Given the description of an element on the screen output the (x, y) to click on. 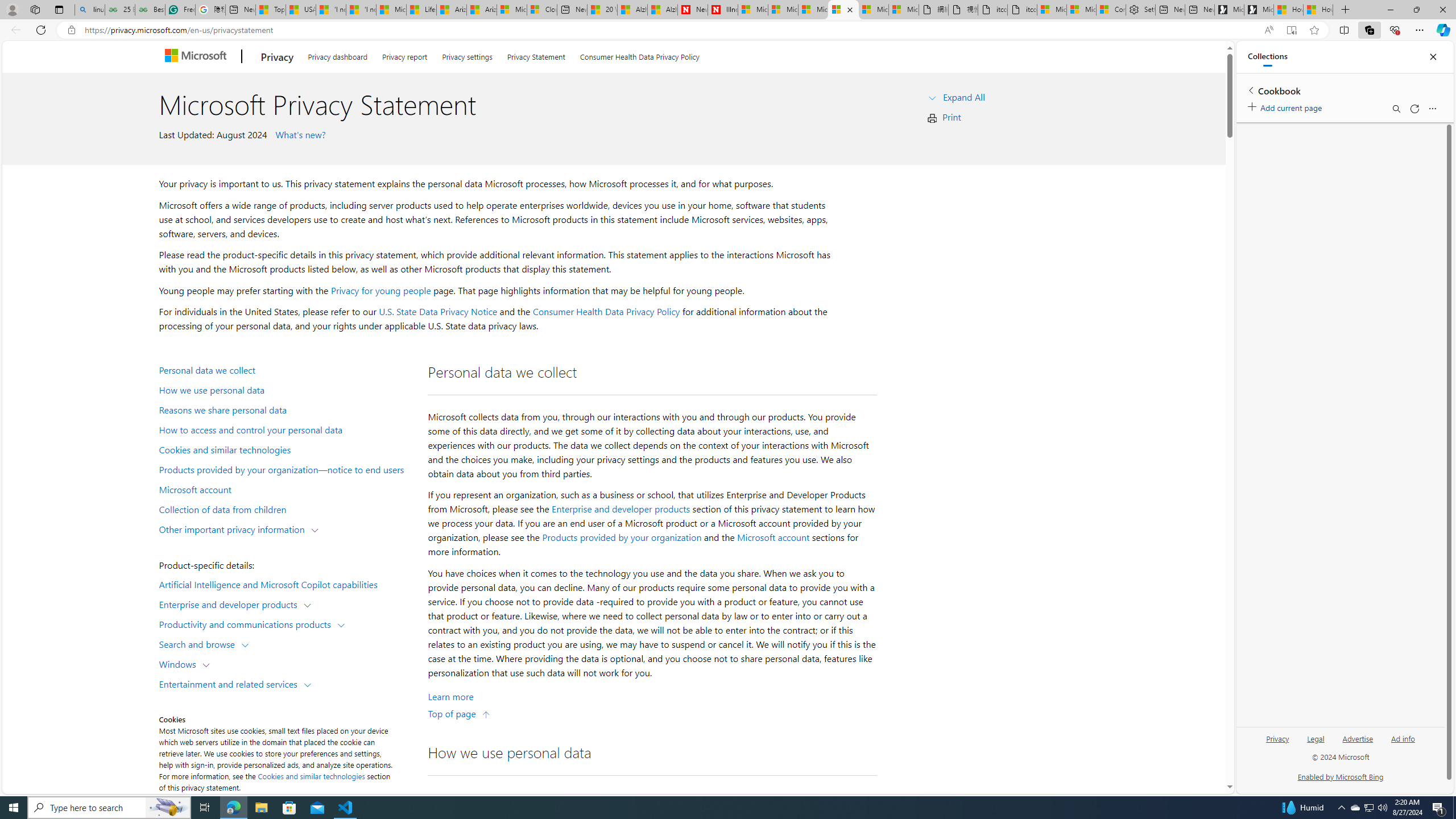
Windows (180, 663)
Cookies and similar technologies (311, 775)
Consumer Health Data Privacy Policy (1111, 9)
Entertainment and related services (230, 683)
Consumer Health Data Privacy Policy (639, 54)
More options menu (1432, 108)
Top of page (459, 713)
Illness news & latest pictures from Newsweek.com (722, 9)
Expand All (963, 96)
